Given the description of an element on the screen output the (x, y) to click on. 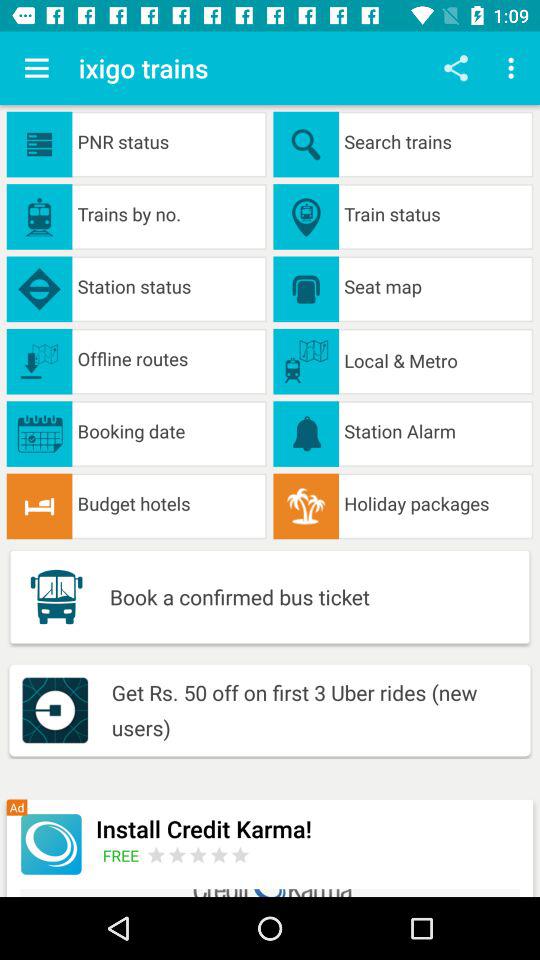
go to share (455, 67)
